Given the description of an element on the screen output the (x, y) to click on. 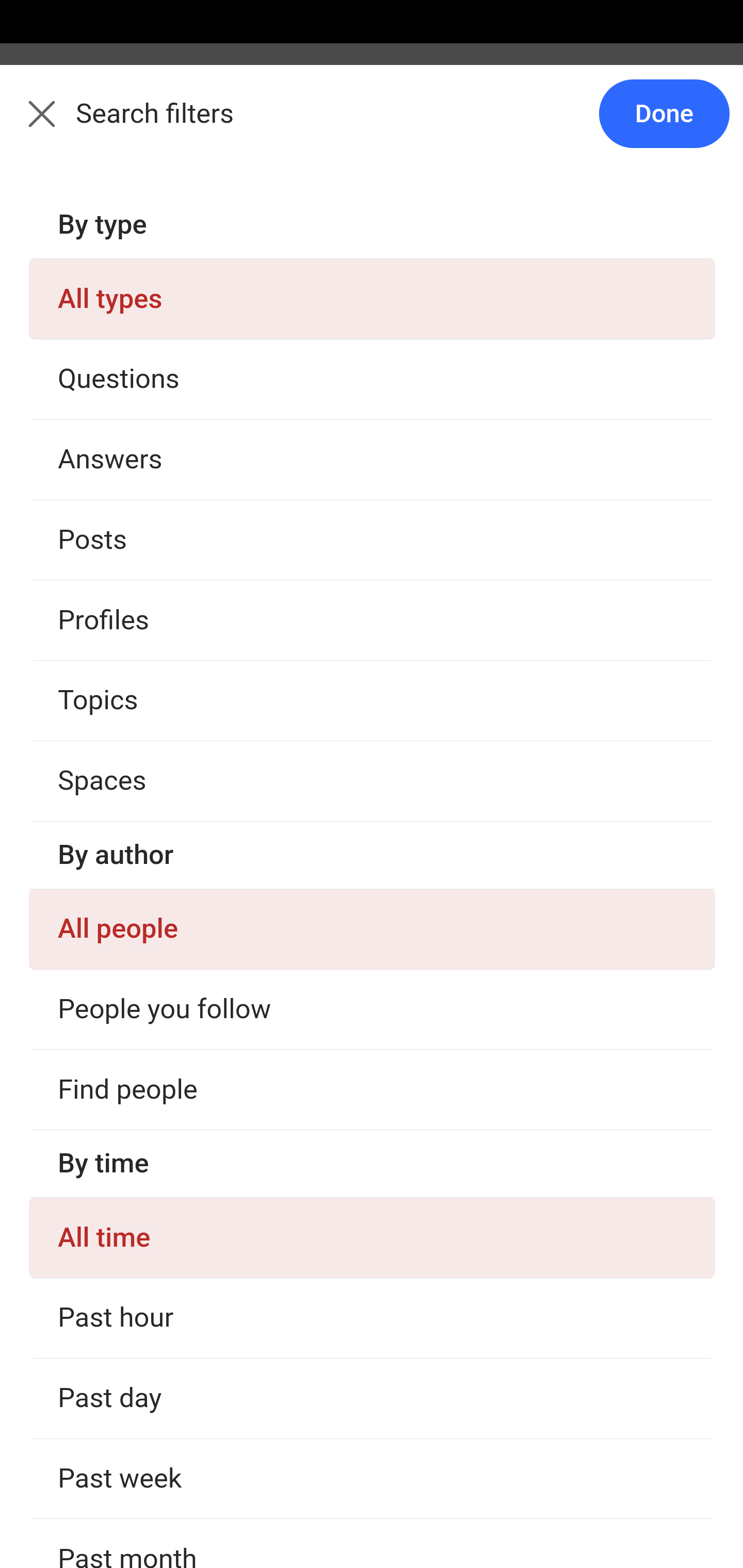
Back Search (371, 125)
Answer (125, 387)
Answer (125, 784)
Answer (125, 1179)
Answer (125, 1378)
